Given the description of an element on the screen output the (x, y) to click on. 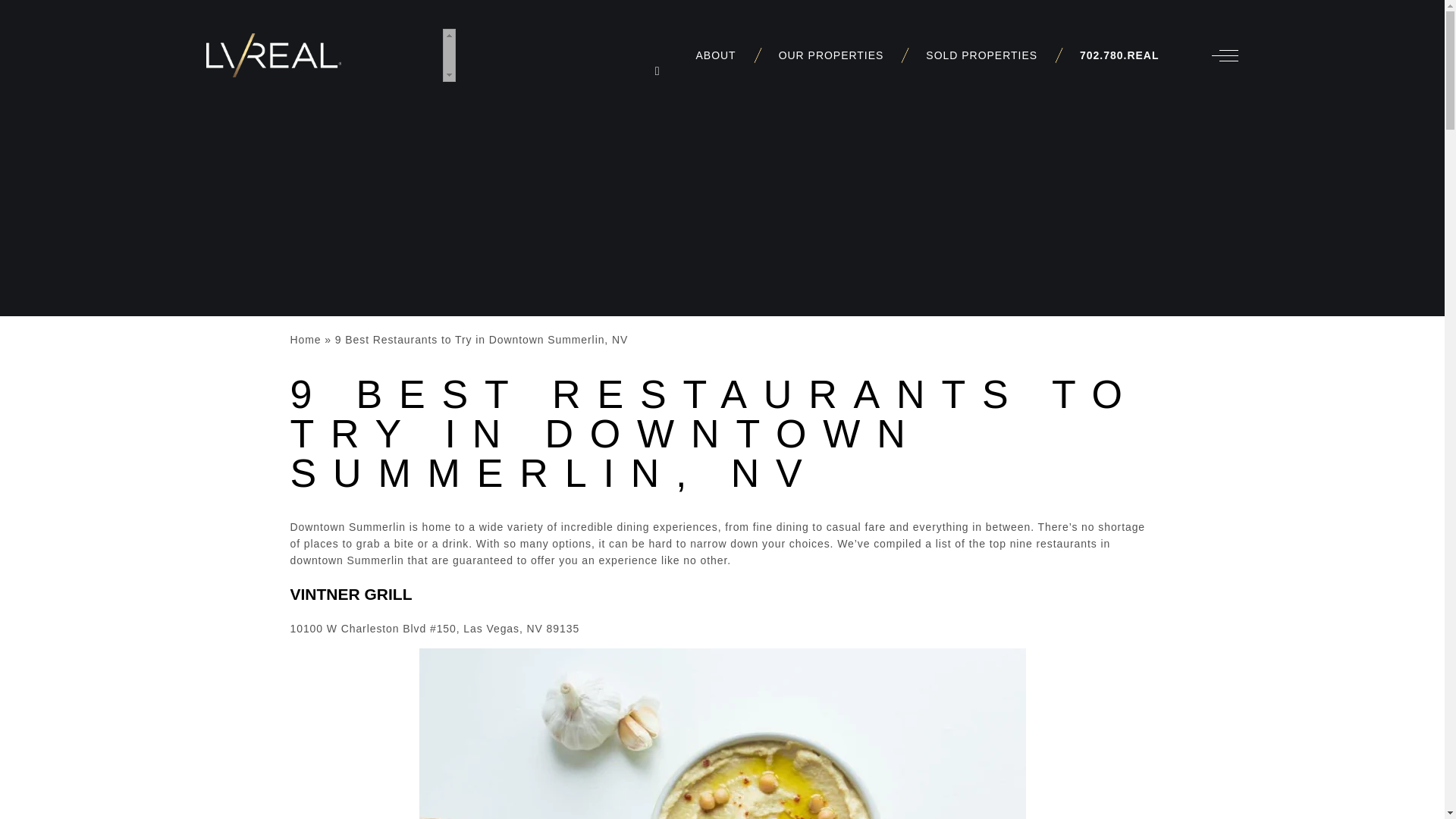
Home (304, 339)
ABOUT (715, 54)
OUR PROPERTIES (830, 54)
702.780.REAL (1119, 54)
SOLD PROPERTIES (981, 54)
